Given the description of an element on the screen output the (x, y) to click on. 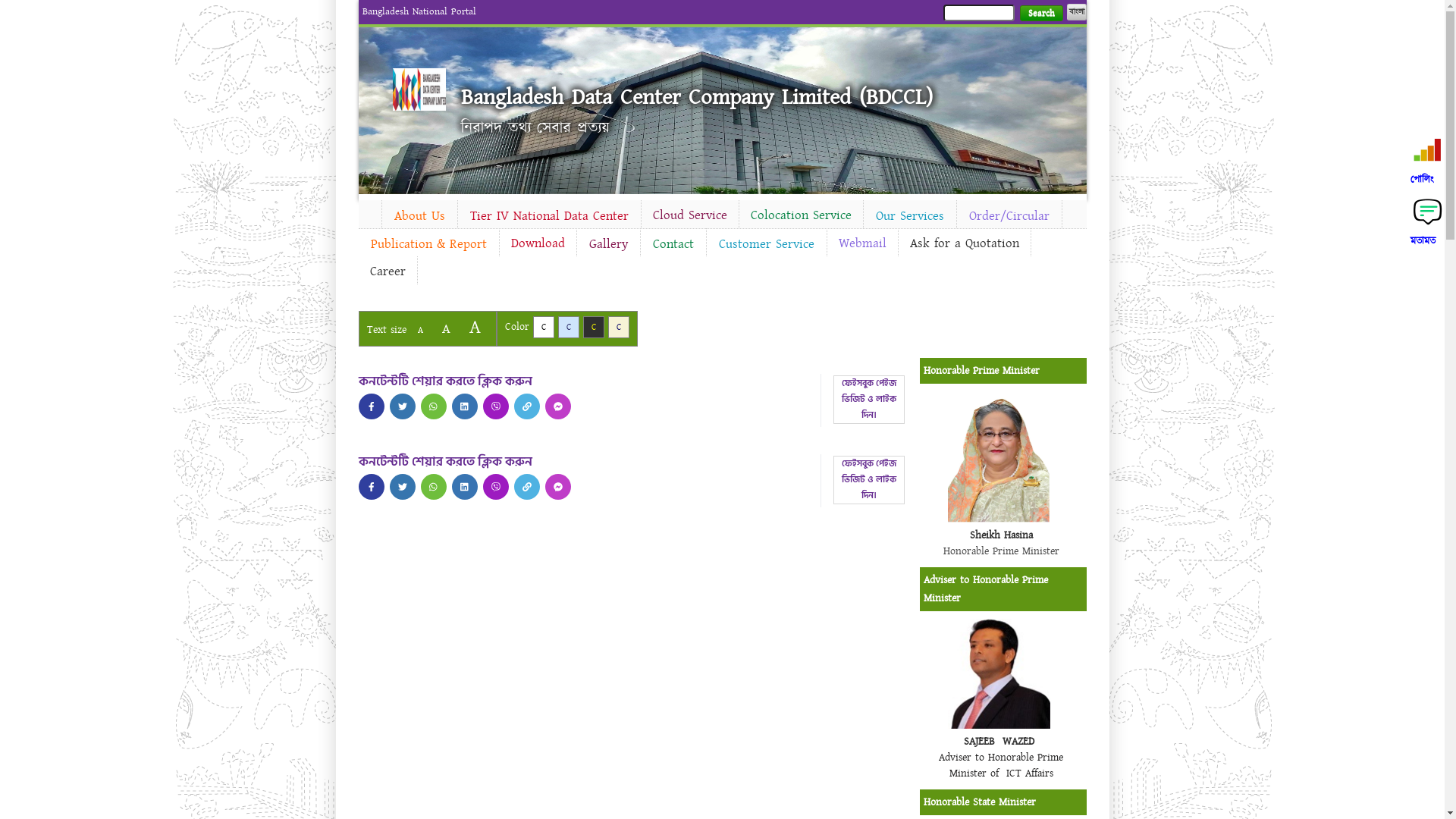
Bangladesh National Portal Element type: text (419, 11)
Customer Service Element type: text (766, 244)
C Element type: text (542, 327)
Download Element type: text (536, 243)
Search Element type: text (1040, 13)
C Element type: text (592, 327)
Our Services Element type: text (908, 216)
Webmail Element type: text (861, 243)
Career Element type: text (386, 271)
Home Element type: hover (418, 89)
Gallery Element type: text (607, 244)
Colocation Service Element type: text (800, 215)
Publication & Report Element type: text (427, 244)
Tier IV National Data Center Element type: text (549, 216)
Order/Circular Element type: text (1009, 216)
Bangladesh Data Center Company Limited (BDCCL) Element type: text (696, 96)
C Element type: text (618, 327)
About Us Element type: text (419, 216)
Ask for a Quotation Element type: text (963, 243)
A Element type: text (419, 330)
Contact Element type: text (672, 244)
Home Element type: hover (368, 211)
Cloud Service Element type: text (689, 215)
A Element type: text (474, 327)
A Element type: text (445, 328)
C Element type: text (568, 327)
